Given the description of an element on the screen output the (x, y) to click on. 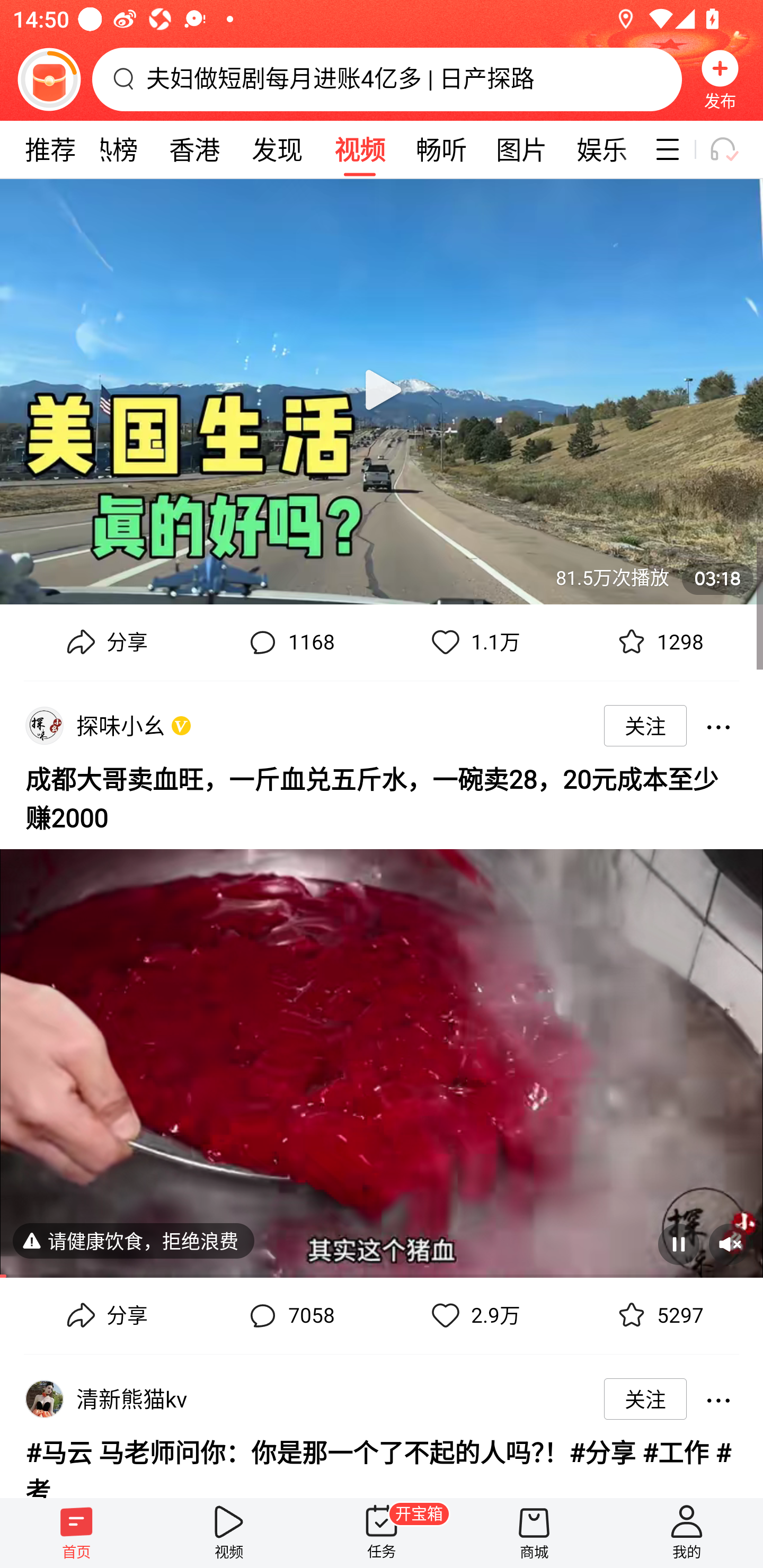
阅读赚金币 (48, 79)
夫妇做短剧每月进账4亿多 | 日产探路 搜索框，夫妇做短剧每月进账4亿多 | 日产探路 (387, 79)
发布 发布，按钮 (720, 78)
推荐 (49, 149)
香港 (194, 149)
发现 (276, 149)
视频 (359, 149)
畅听 (441, 149)
图片 (521, 149)
娱乐 (601, 149)
科技 (643, 149)
听一听开关 (732, 149)
分享 (104, 641)
评论,1168 1168 (288, 641)
收藏,1298 1298 (658, 641)
关注 (645, 725)
更多 (718, 725)
探味小幺头像 (44, 725)
探味小幺 探味小幺  已认证 (123, 725)
成都大哥卖血旺，一斤血兑五斤水，一碗卖28，20元成本至少赚2000 (381, 795)
请健康饮食，拒绝浪费 (44, 1240)
取消静音 (729, 1244)
分享 (104, 1315)
评论,7058 7058 (288, 1315)
收藏,5297 5297 (658, 1315)
关注 (645, 1398)
更多 (718, 1398)
清新熊猫kv头像 (44, 1398)
清新熊猫kv (134, 1398)
#马云 马老师问你：你是那一个了不起的人吗？！#分享 #工作 #考 (381, 1463)
首页 (76, 1532)
视频 (228, 1532)
任务 开宝箱 (381, 1532)
商城 (533, 1532)
我的 (686, 1532)
